Given the description of an element on the screen output the (x, y) to click on. 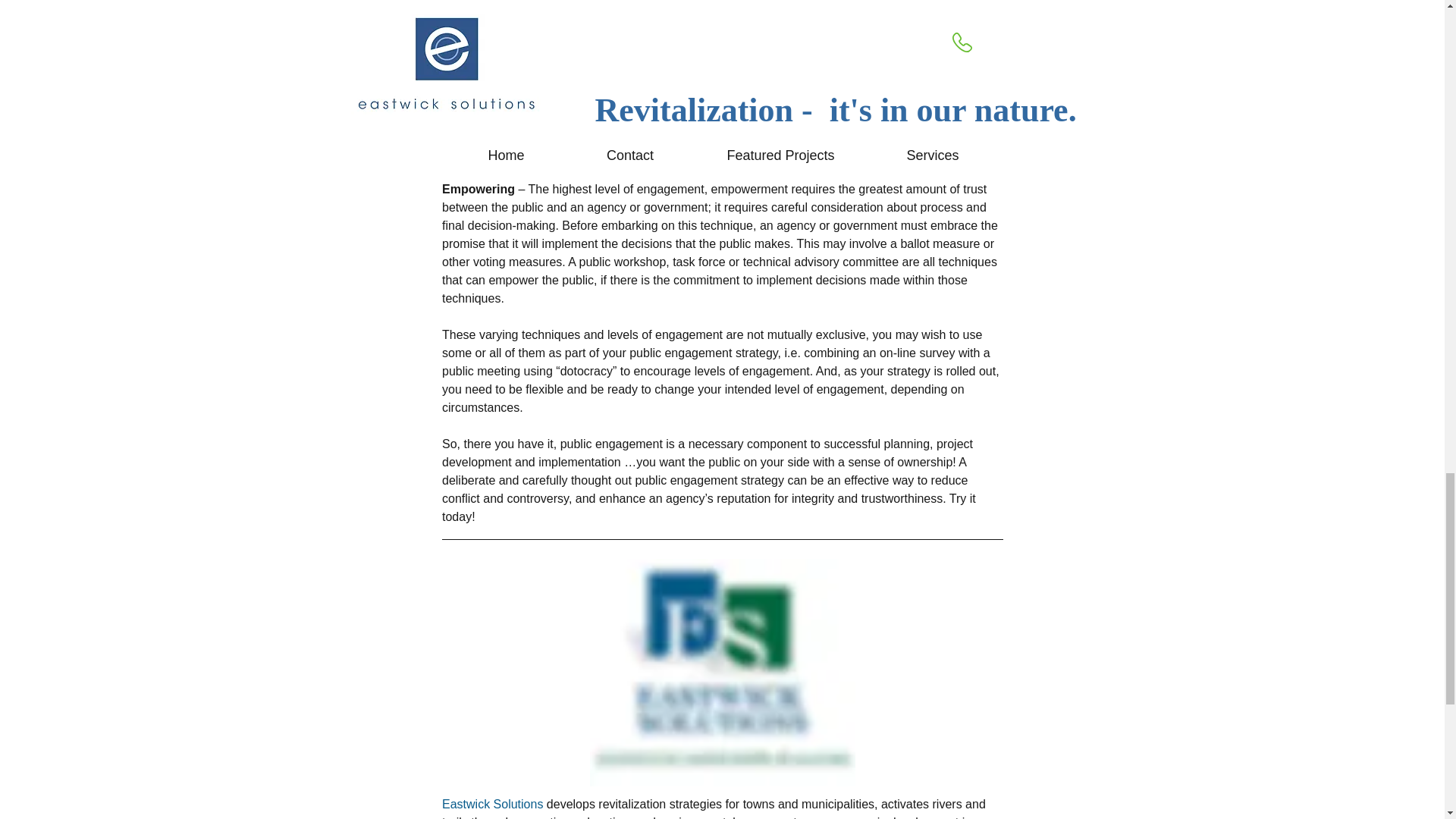
Eastwick Solutions  (493, 803)
